Given the description of an element on the screen output the (x, y) to click on. 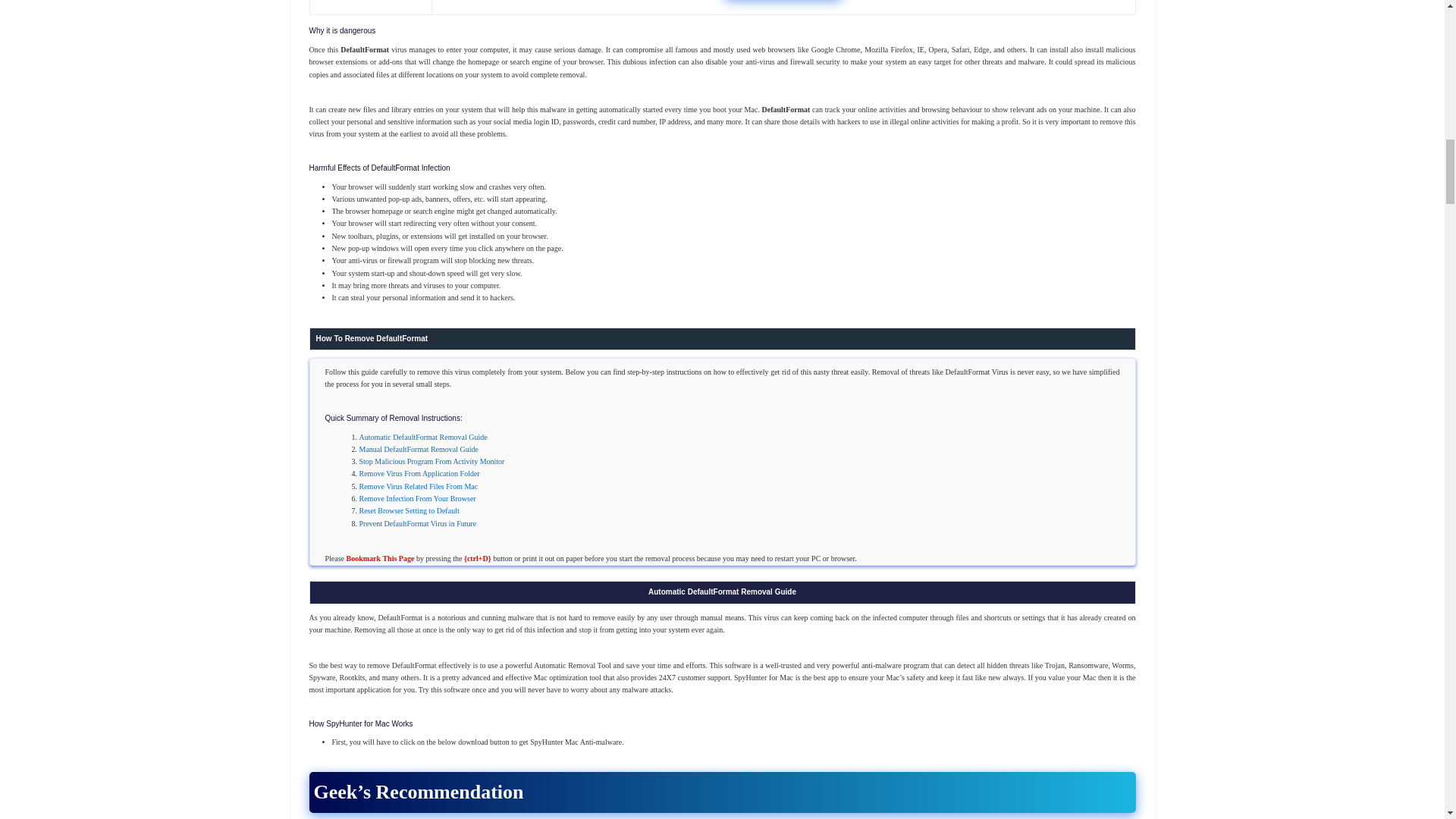
Manual DefaultFormat Removal Guide (419, 449)
Remove Infection From Your Browser (417, 498)
Automatic DefaultFormat Removal Guide (423, 437)
Prevent DefaultFormat Virus in Future (418, 523)
Reset Browser Setting to Default (409, 510)
Stop Malicious Program From Activity Monitor (432, 461)
Remove Virus Related Files From Mac (419, 486)
Remove Virus From Application Folder (419, 473)
